Given the description of an element on the screen output the (x, y) to click on. 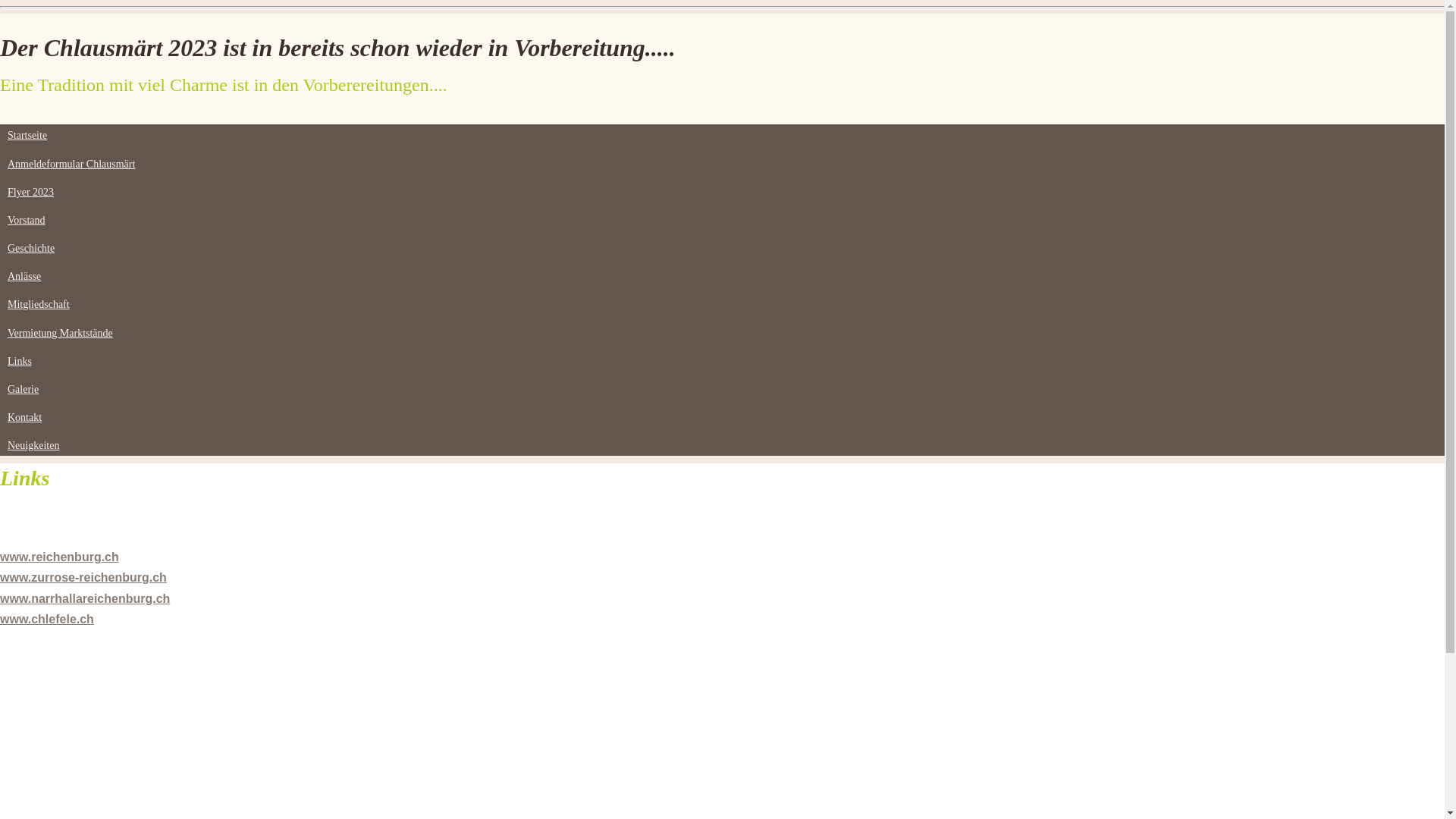
Vorstand Element type: text (26, 219)
Geschichte Element type: text (30, 248)
Mitgliedschaft Element type: text (38, 304)
www.reichenburg.ch Element type: text (59, 556)
Flyer 2023 Element type: text (30, 191)
Kontakt Element type: text (24, 417)
Links Element type: text (19, 361)
www.chlefele.ch Element type: text (47, 618)
Neuigkeiten Element type: text (33, 445)
www.zurrose-reichenburg.ch Element type: text (83, 577)
www.narrhallareichenburg.ch Element type: text (84, 598)
Galerie Element type: text (22, 389)
Startseite Element type: text (27, 135)
